Given the description of an element on the screen output the (x, y) to click on. 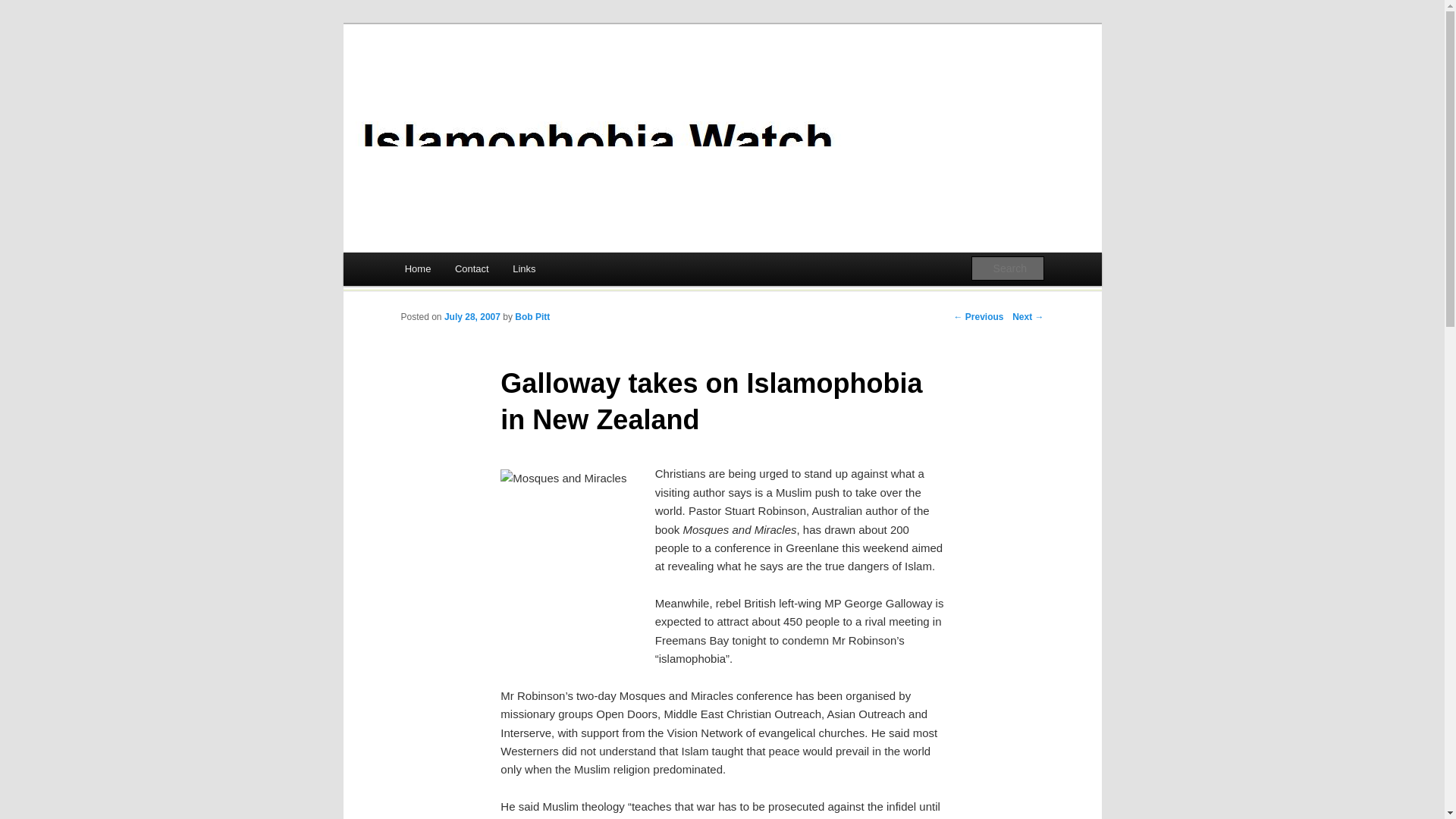
View all posts by Bob Pitt (532, 317)
July 28, 2007 (472, 317)
Bob Pitt (532, 317)
Search (24, 8)
Contact (471, 268)
Links (523, 268)
Islamophobia Watch (510, 82)
Home (417, 268)
Islamophobia Watch (510, 82)
